Given the description of an element on the screen output the (x, y) to click on. 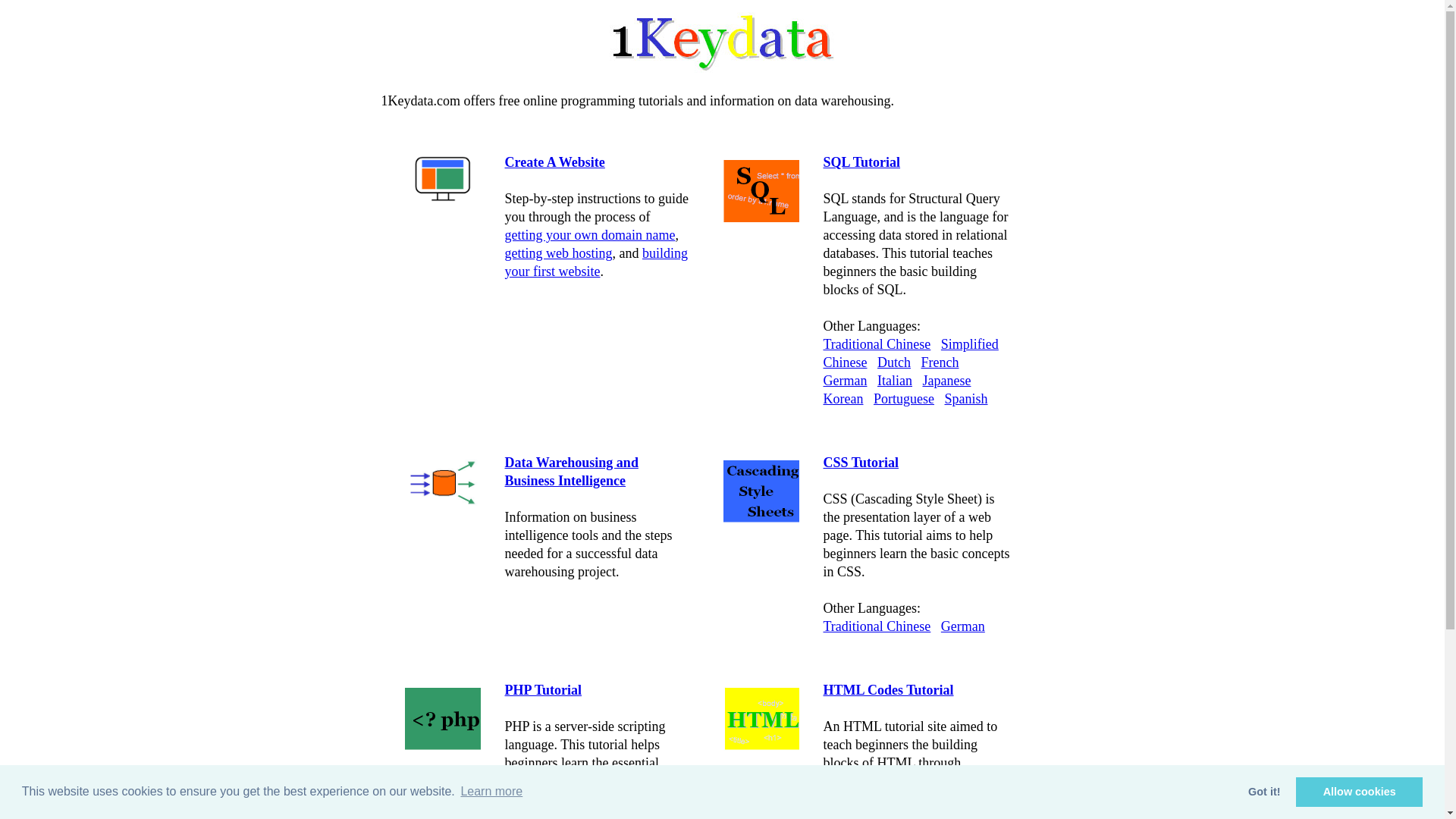
SQL Tutorial Element type: text (861, 161)
building your first website Element type: text (596, 262)
Korean Element type: text (843, 398)
Data Warehousing and Business Intelligence Element type: text (571, 471)
Dutch Element type: text (893, 362)
Traditional Chinese Element type: text (877, 343)
Spanish Element type: text (965, 398)
Traditional Chinese Element type: text (877, 625)
Simplified Chinese Element type: text (910, 353)
HTML Codes Tutorial Element type: text (888, 689)
CSS Tutorial Element type: text (861, 462)
Learn more Element type: text (491, 791)
Japanese Element type: text (946, 380)
Allow cookies Element type: text (1358, 791)
getting web hosting Element type: text (558, 252)
Create A Website Element type: text (555, 161)
German Element type: text (845, 380)
PHP Tutorial Element type: text (543, 689)
Got it! Element type: text (1264, 791)
Portuguese Element type: text (903, 398)
German Element type: text (963, 625)
French Element type: text (939, 362)
getting your own domain name Element type: text (590, 234)
Italian Element type: text (894, 380)
